Given the description of an element on the screen output the (x, y) to click on. 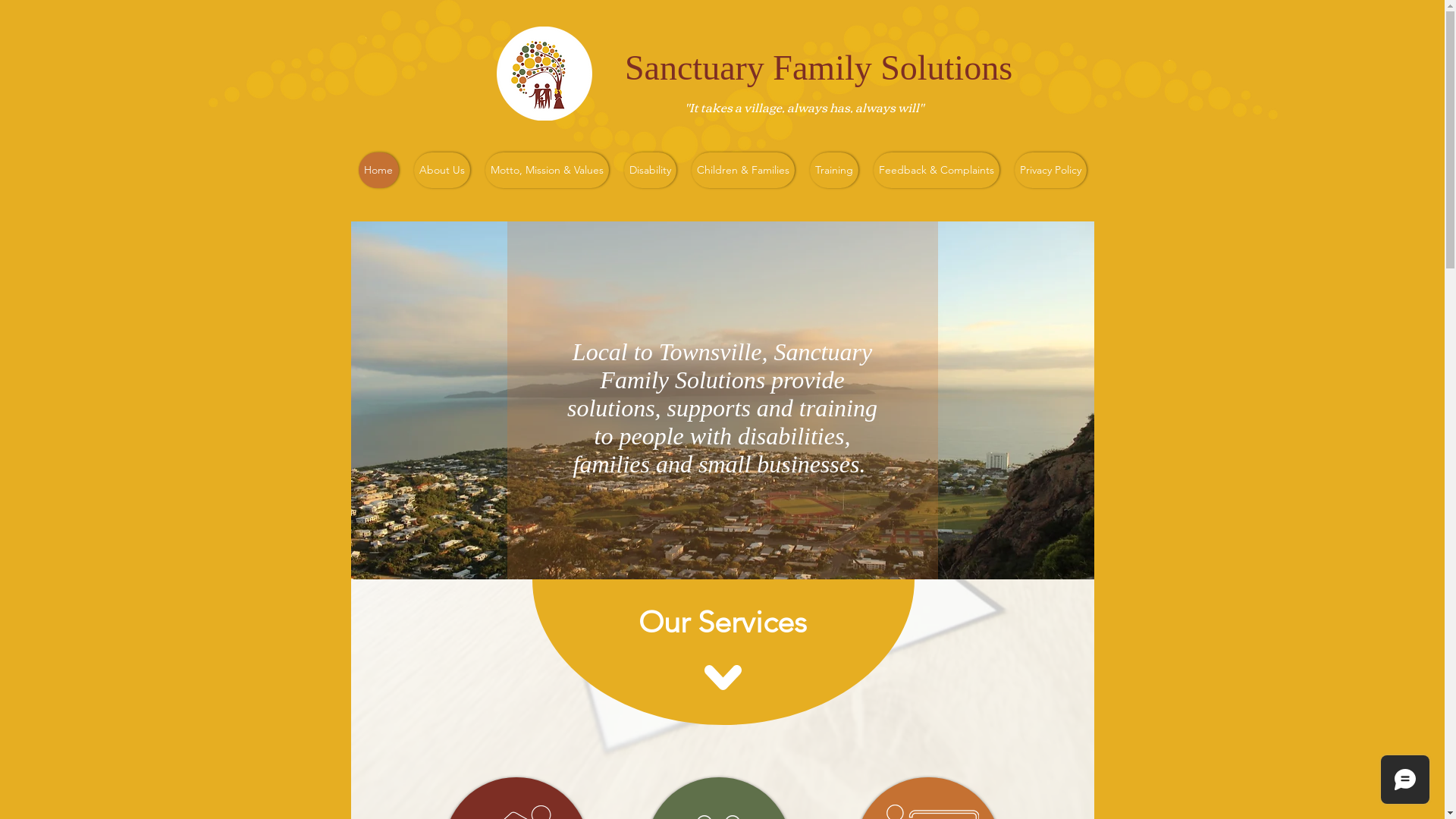
Motto, Mission & Values Element type: text (546, 170)
Home Element type: text (377, 170)
Feedback & Complaints Element type: text (936, 170)
Training Element type: text (833, 170)
Privacy Policy Element type: text (1050, 170)
Disability Element type: text (649, 170)
About Us Element type: text (442, 170)
Children & Families Element type: text (742, 170)
